Given the description of an element on the screen output the (x, y) to click on. 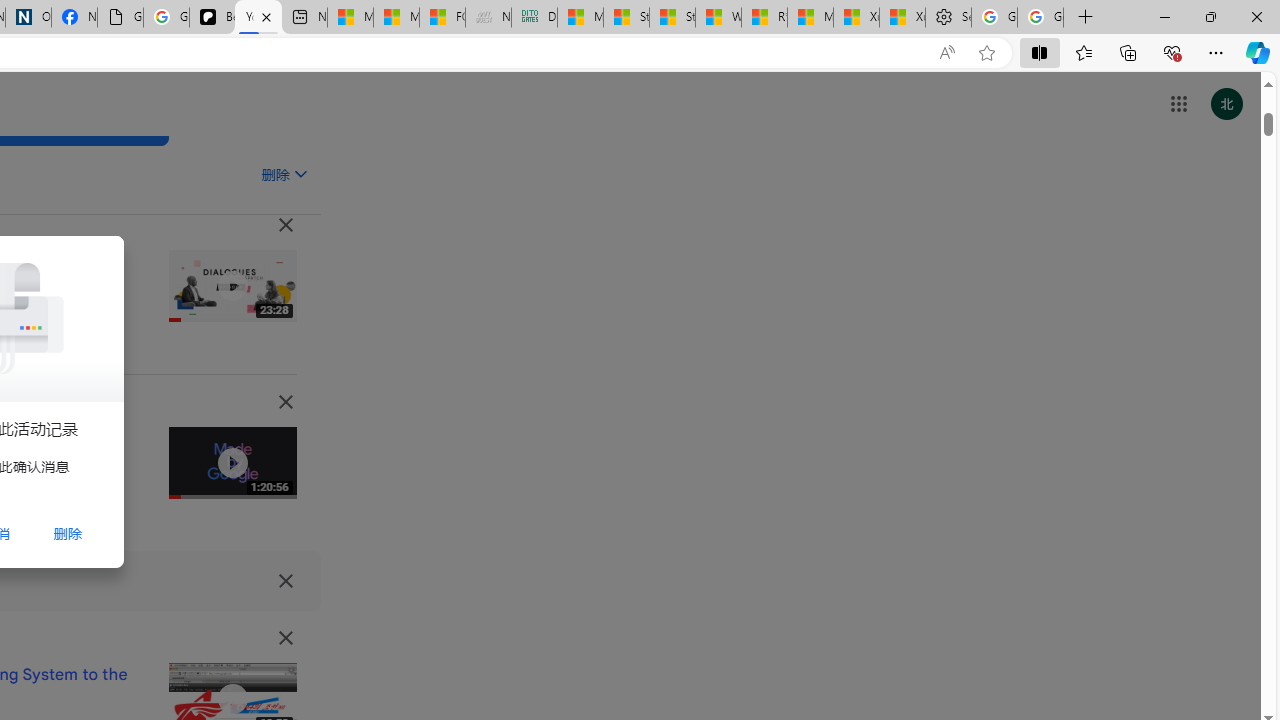
Class: TjcpUd NMm5M (285, 637)
Class: DI7Mnf NMm5M (285, 580)
Be Smart | creating Science videos | Patreon (212, 17)
